Given the description of an element on the screen output the (x, y) to click on. 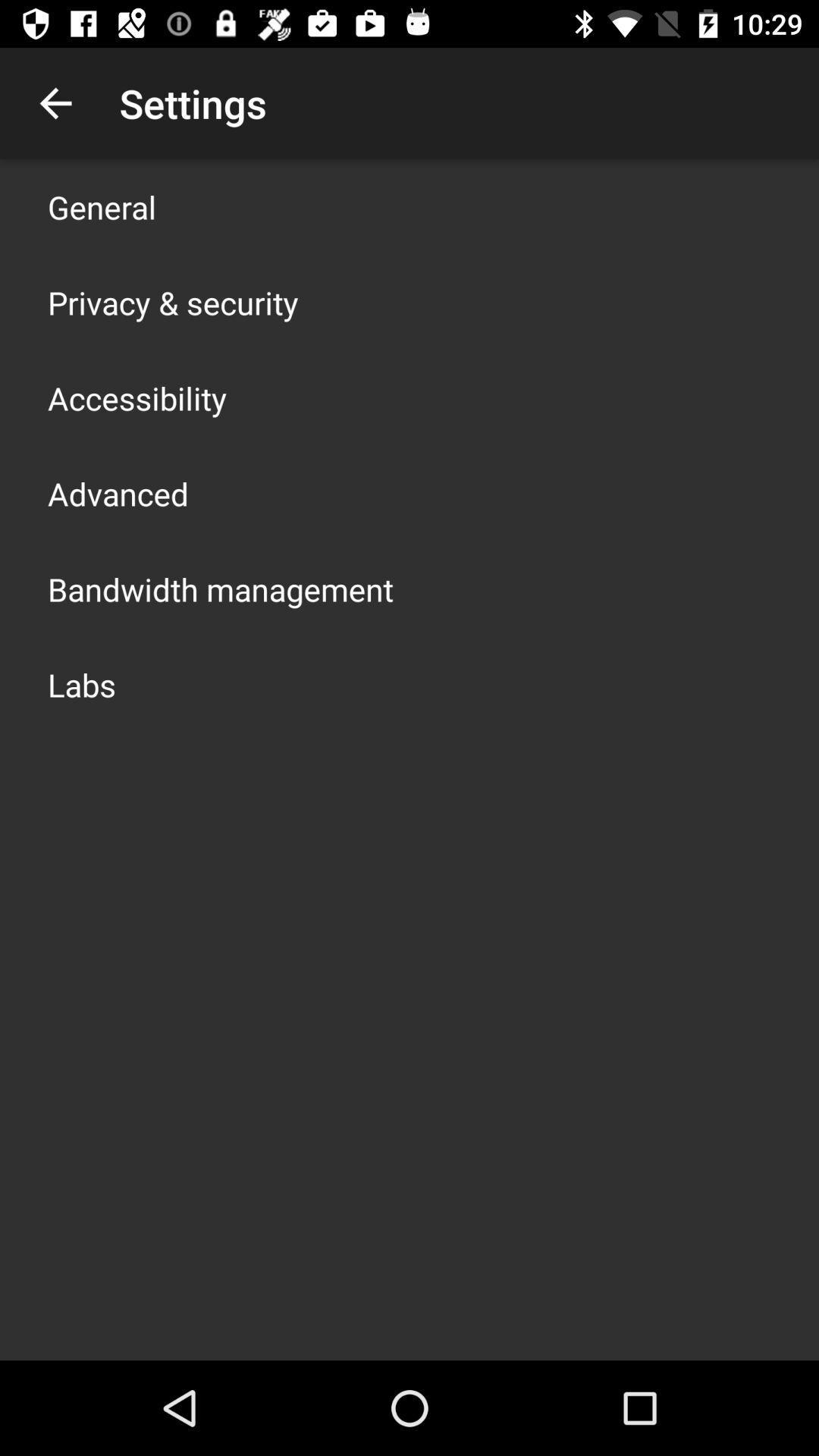
open item to the left of the settings (55, 103)
